Given the description of an element on the screen output the (x, y) to click on. 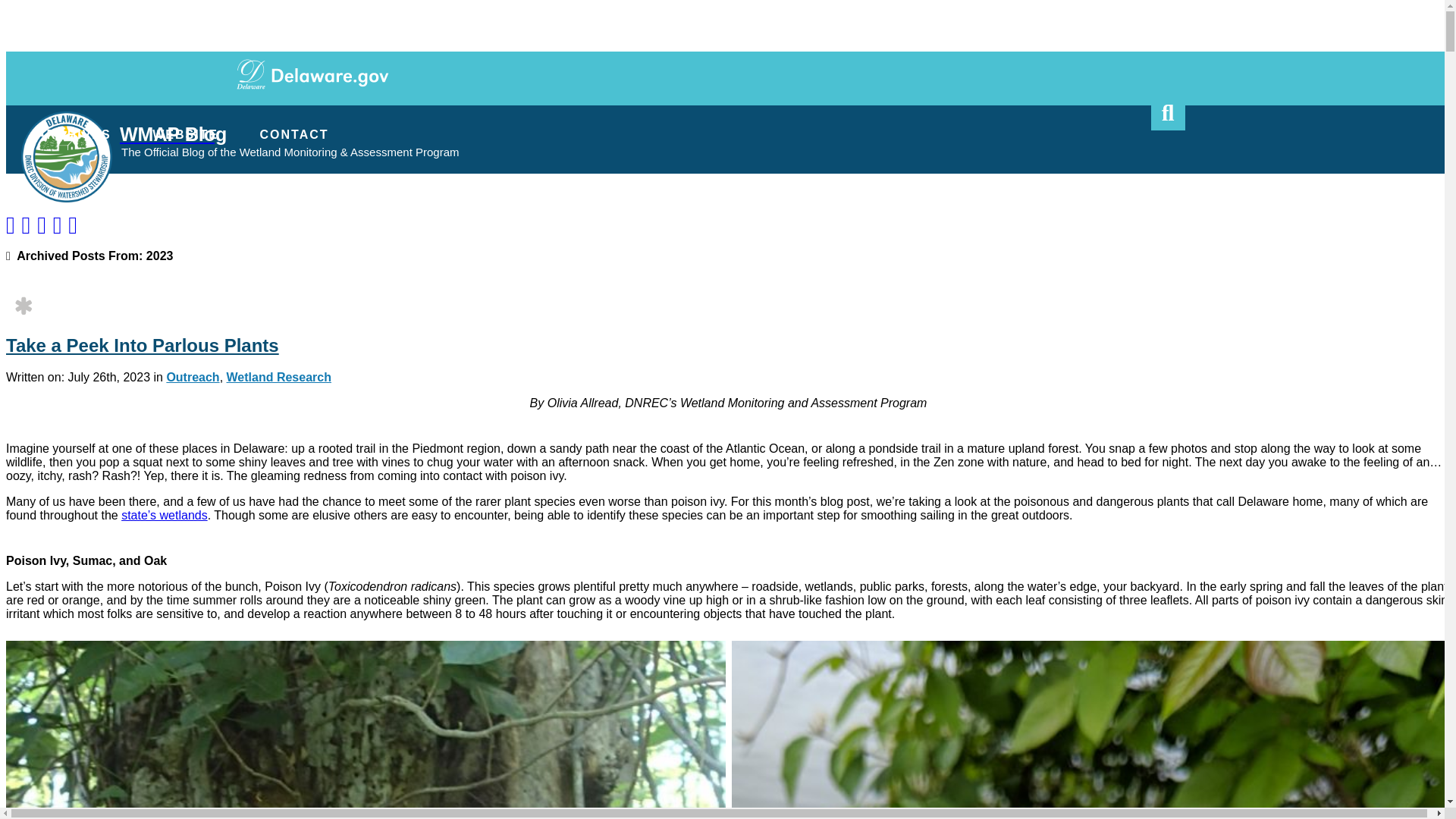
Contact (532, 111)
Wetland Research (279, 377)
View all posts in Outreach (192, 377)
Take a Peek Into Parlous Plants (142, 344)
View all posts in Wetland Research (279, 377)
CONTACT (294, 133)
Delaware Wetlands logo (66, 156)
WEBSITE (185, 133)
Outreach (192, 377)
Topics (453, 111)
ARCHIVES (74, 133)
Submit (1168, 114)
Agencies (300, 111)
News (381, 111)
